Given the description of an element on the screen output the (x, y) to click on. 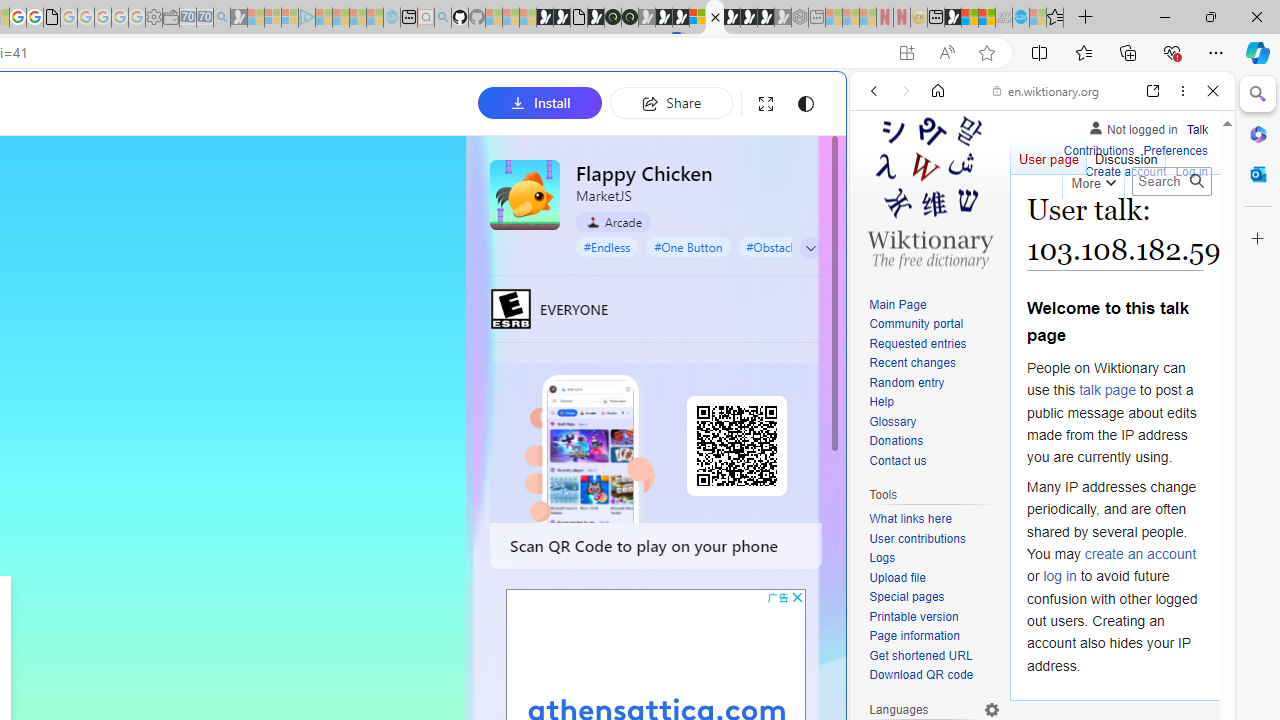
World - MSN (969, 17)
Microsoft Start Gaming - Sleeping (238, 17)
Home | Sky Blue Bikes - Sky Blue Bikes (687, 426)
More (1092, 179)
User contributions (934, 539)
Sign in to your account (697, 17)
Log in (1191, 169)
AutomationID: cbb (797, 596)
User page (1048, 154)
Create account (1125, 169)
